Given the description of an element on the screen output the (x, y) to click on. 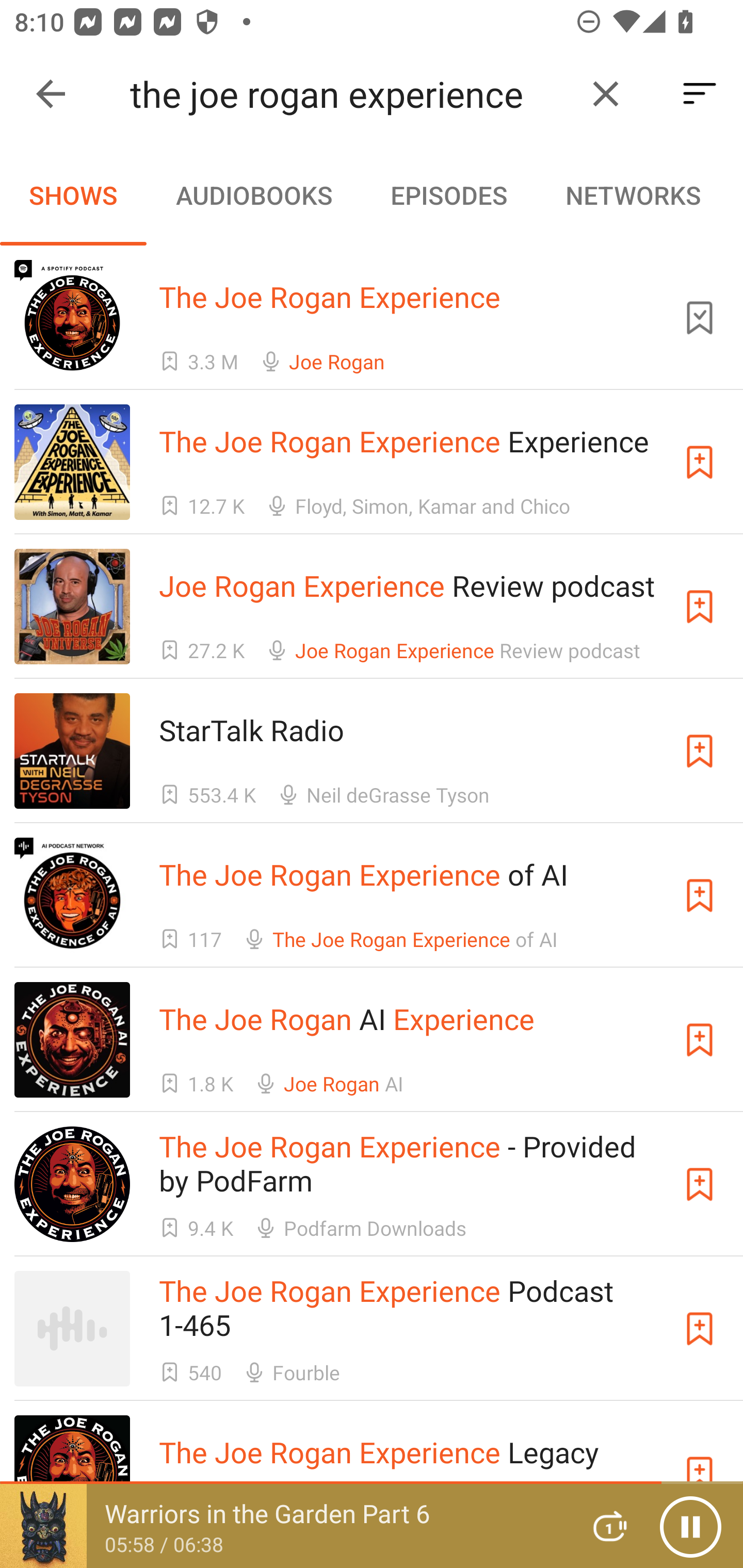
Collapse (50, 93)
Clear query (605, 93)
Sort By (699, 93)
the joe rogan experience (349, 94)
SHOWS (73, 195)
AUDIOBOOKS (253, 195)
EPISODES (448, 195)
NETWORKS (632, 195)
Unsubscribe (699, 317)
Subscribe (699, 462)
Subscribe (699, 606)
Subscribe (699, 751)
Subscribe (699, 895)
Subscribe (699, 1039)
